Given the description of an element on the screen output the (x, y) to click on. 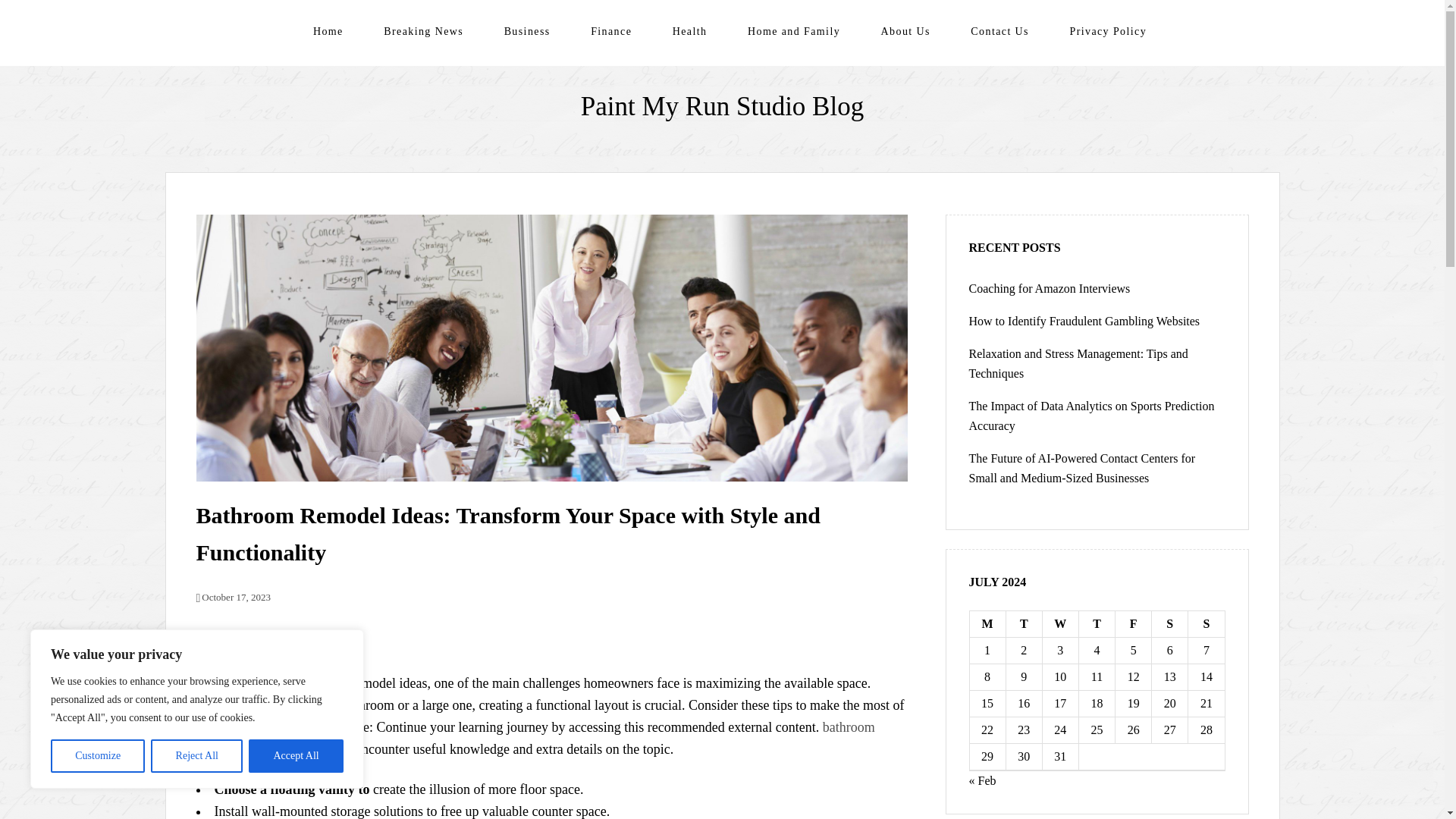
October 17, 2023 (232, 596)
Reject All (197, 756)
Accept All (295, 756)
Breaking News (423, 31)
Sunday (1206, 624)
Customize (97, 756)
Relaxation and Stress Management: Tips and Techniques (1078, 363)
Friday (1133, 624)
Home and Family (794, 31)
Home (328, 31)
3:19 pm (232, 596)
Privacy Policy (1107, 31)
Business (526, 31)
Contact Us (1000, 31)
Paint My Run Studio Blog (721, 106)
